Given the description of an element on the screen output the (x, y) to click on. 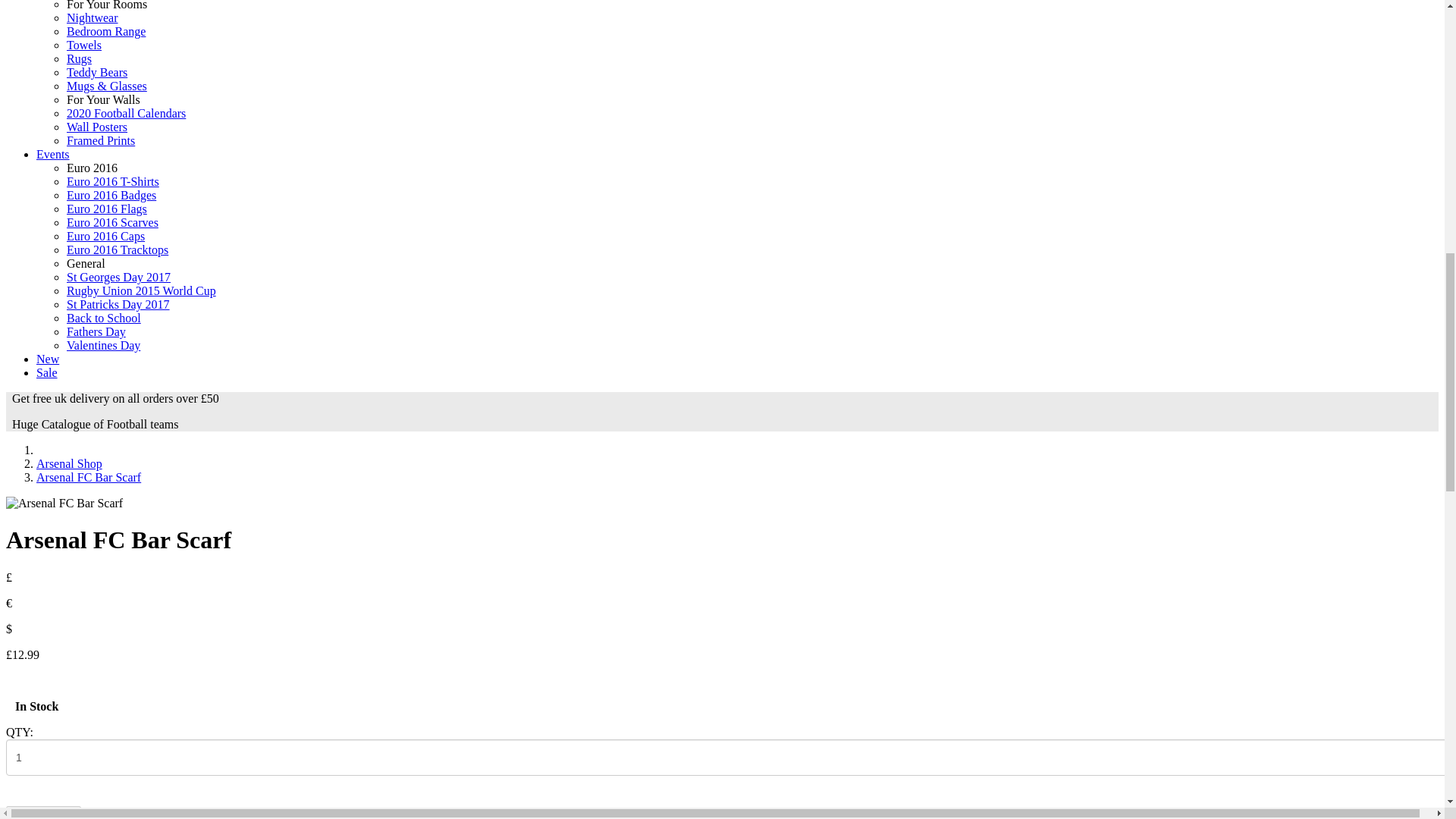
currency changer (8, 603)
currency changer (8, 576)
Arsenal FC Bar Scarf (88, 477)
Arsenal Shop (68, 463)
currency changer (8, 628)
